Given the description of an element on the screen output the (x, y) to click on. 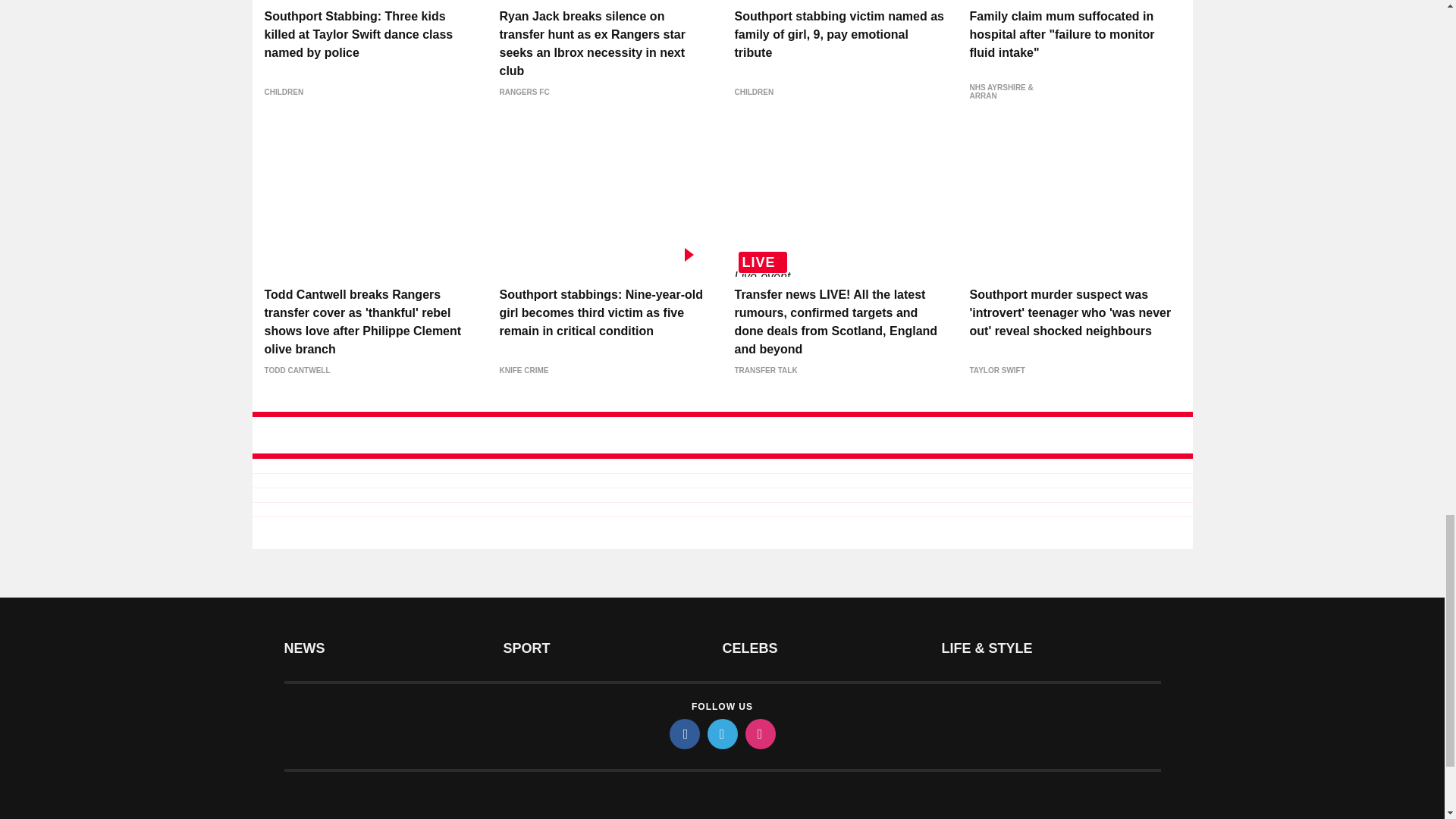
instagram (759, 734)
facebook (683, 734)
twitter (721, 734)
